Given the description of an element on the screen output the (x, y) to click on. 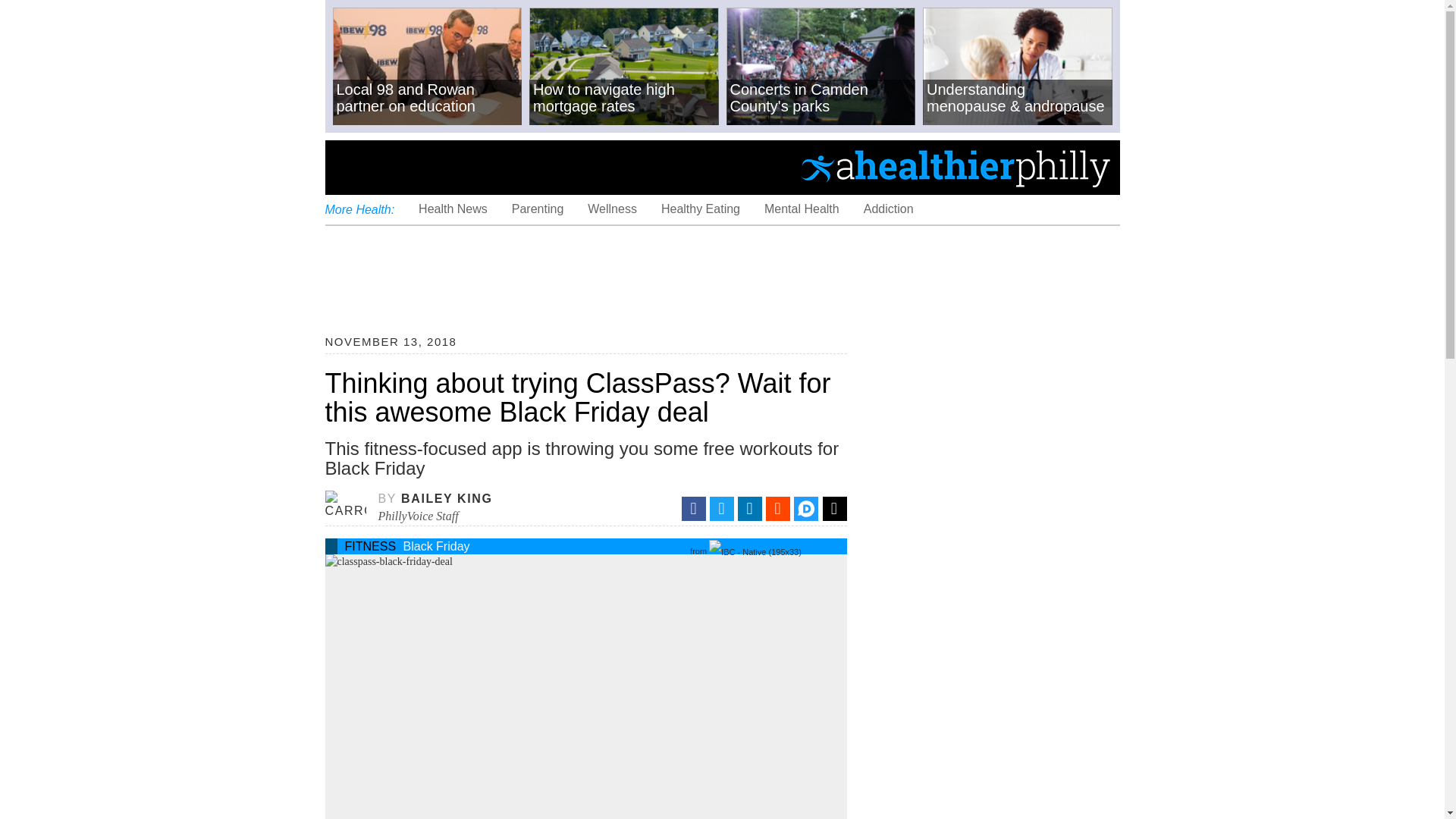
Concerts in Camden County's parks (820, 67)
PhillyVoice (428, 166)
Menu (348, 167)
Twitter (721, 508)
Email (833, 508)
Local 98 and Rowan partner on education (426, 67)
Facebook (693, 508)
LinkedIn (749, 508)
Reddit (777, 508)
How to navigate high mortgage rates (624, 67)
